Given the description of an element on the screen output the (x, y) to click on. 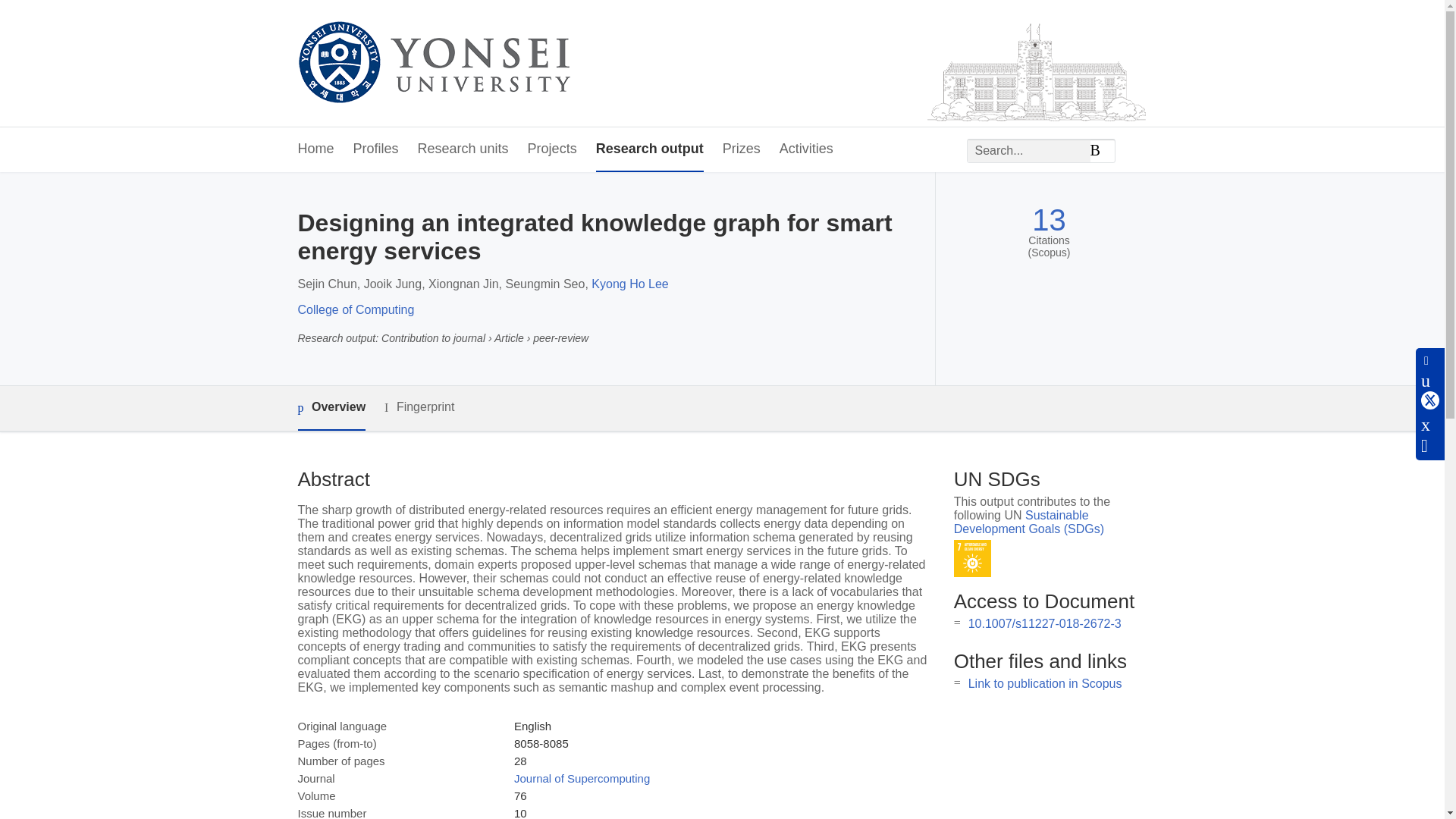
Journal of Supercomputing (581, 778)
Overview (331, 407)
SDG 7 - Affordable and Clean Energy (972, 558)
Projects (551, 149)
Yonsei University Home (433, 63)
Kyong Ho Lee (629, 283)
Fingerprint (419, 407)
Activities (805, 149)
13 (1048, 220)
College of Computing (355, 309)
Link to publication in Scopus (1045, 683)
Profiles (375, 149)
Research output (649, 149)
Research units (462, 149)
